Given the description of an element on the screen output the (x, y) to click on. 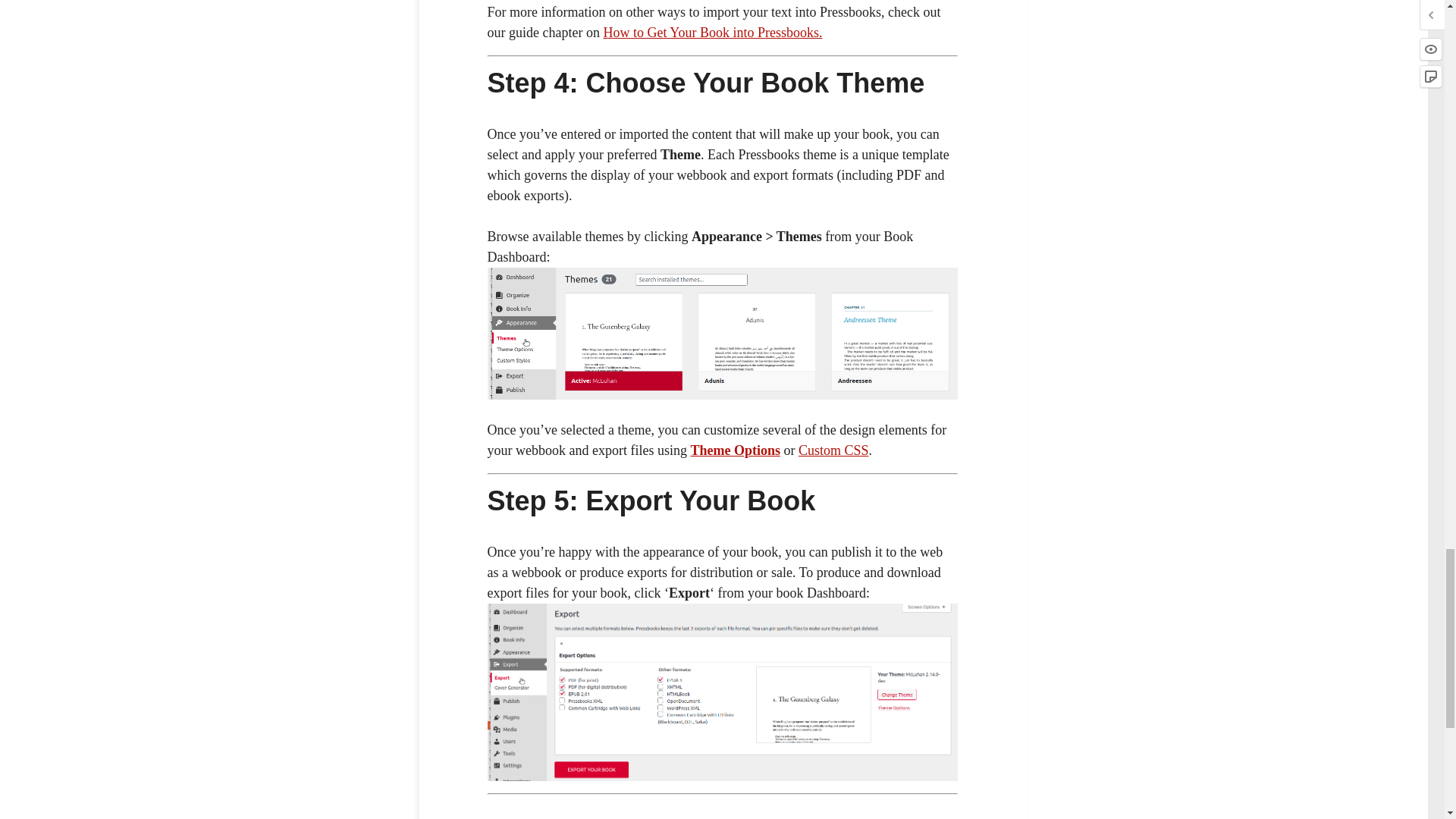
Custom CSS (833, 450)
How to Get Your Book into Pressbooks. (712, 32)
Theme Options (735, 450)
